Given the description of an element on the screen output the (x, y) to click on. 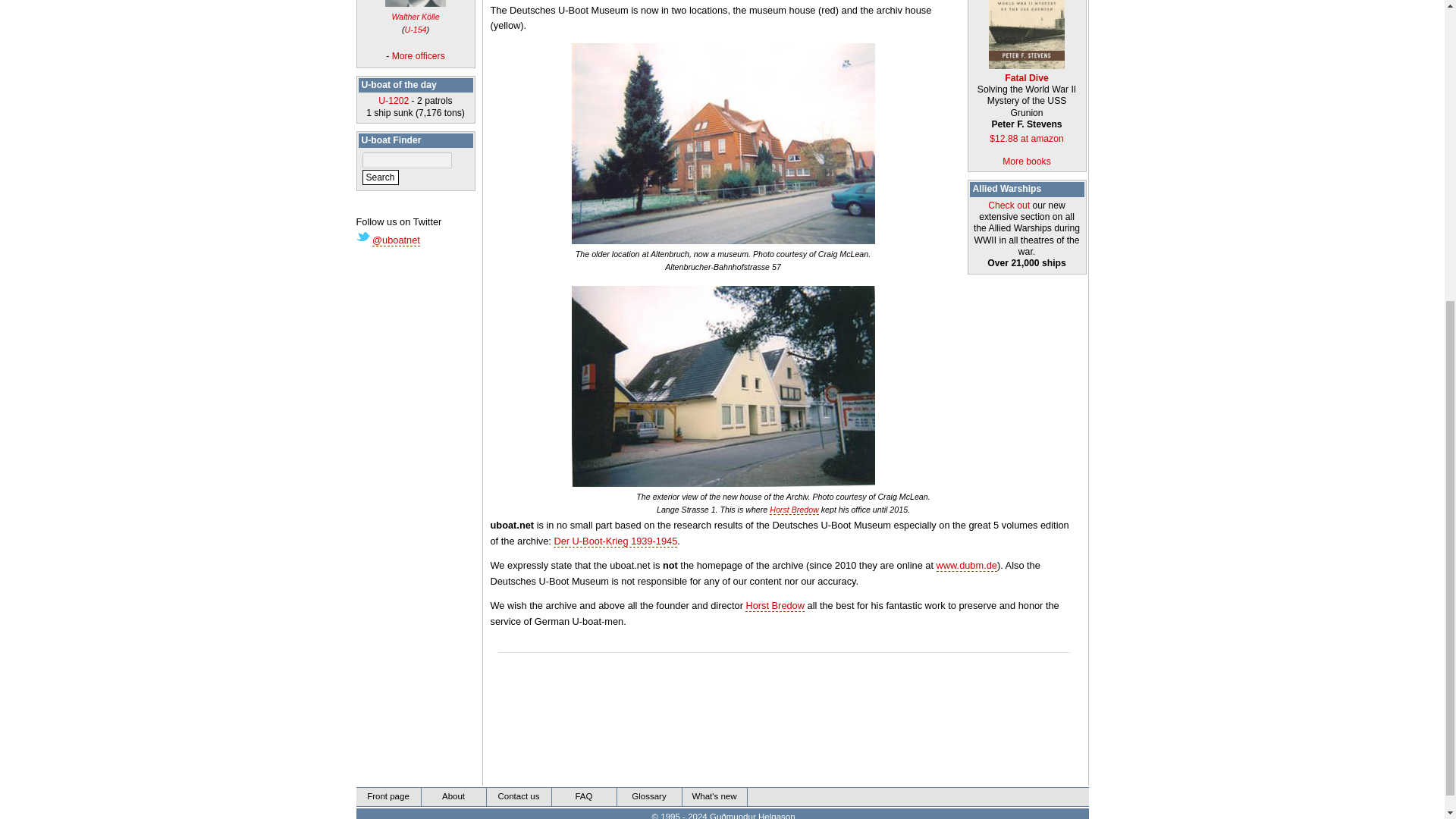
Search (380, 177)
Front page (389, 796)
U-154 (415, 29)
Allied Warships (1006, 188)
Search (380, 177)
Fatal Dive (1026, 71)
What's new at uboat.net (715, 796)
About uboat.net (454, 796)
Frequently Asked Questions (584, 796)
More officers (418, 55)
